Given the description of an element on the screen output the (x, y) to click on. 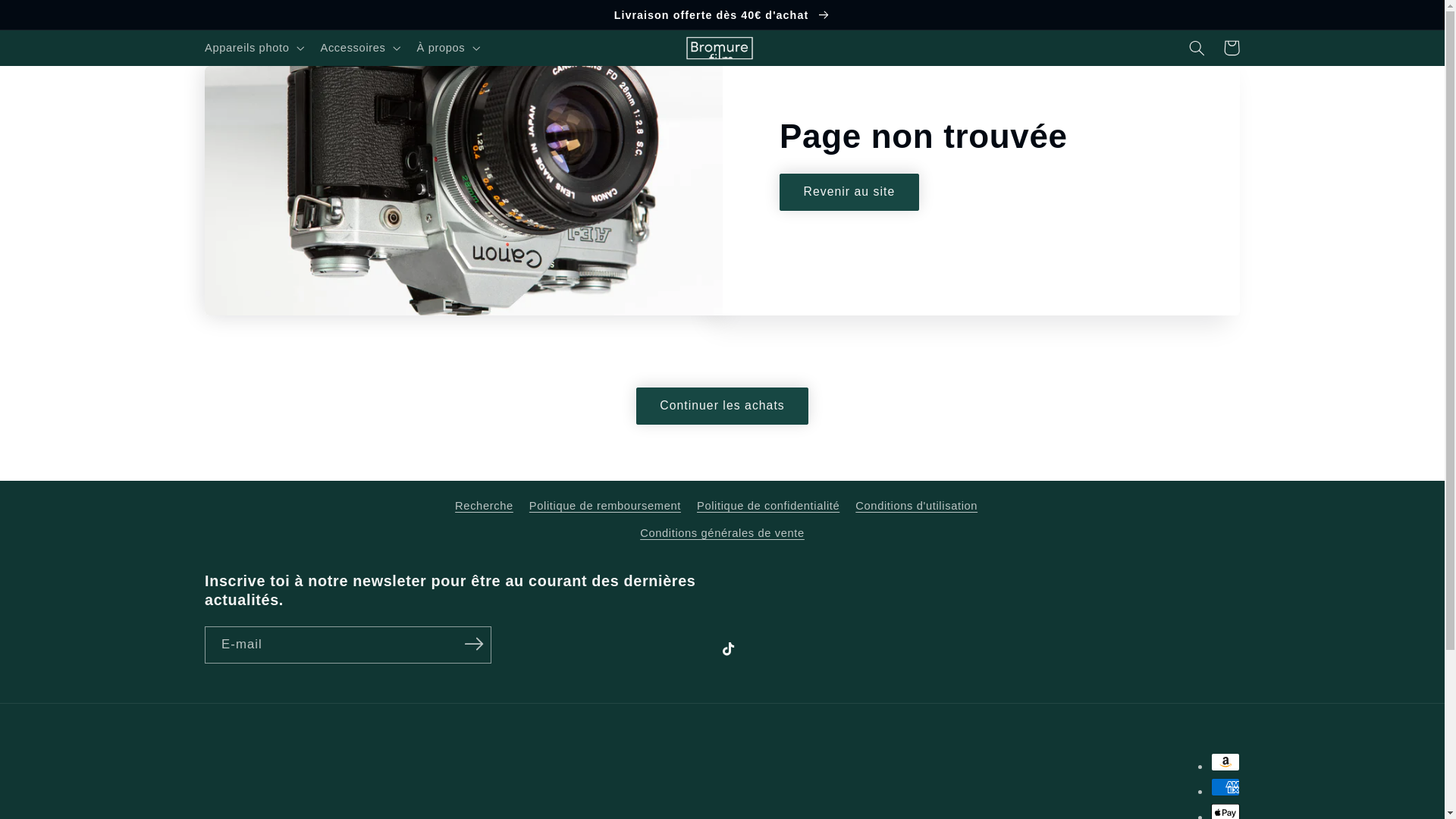
American Express (1225, 787)
Apple Pay (1225, 811)
Amazon (1225, 761)
Ignorer et passer au contenu (48, 18)
